Given the description of an element on the screen output the (x, y) to click on. 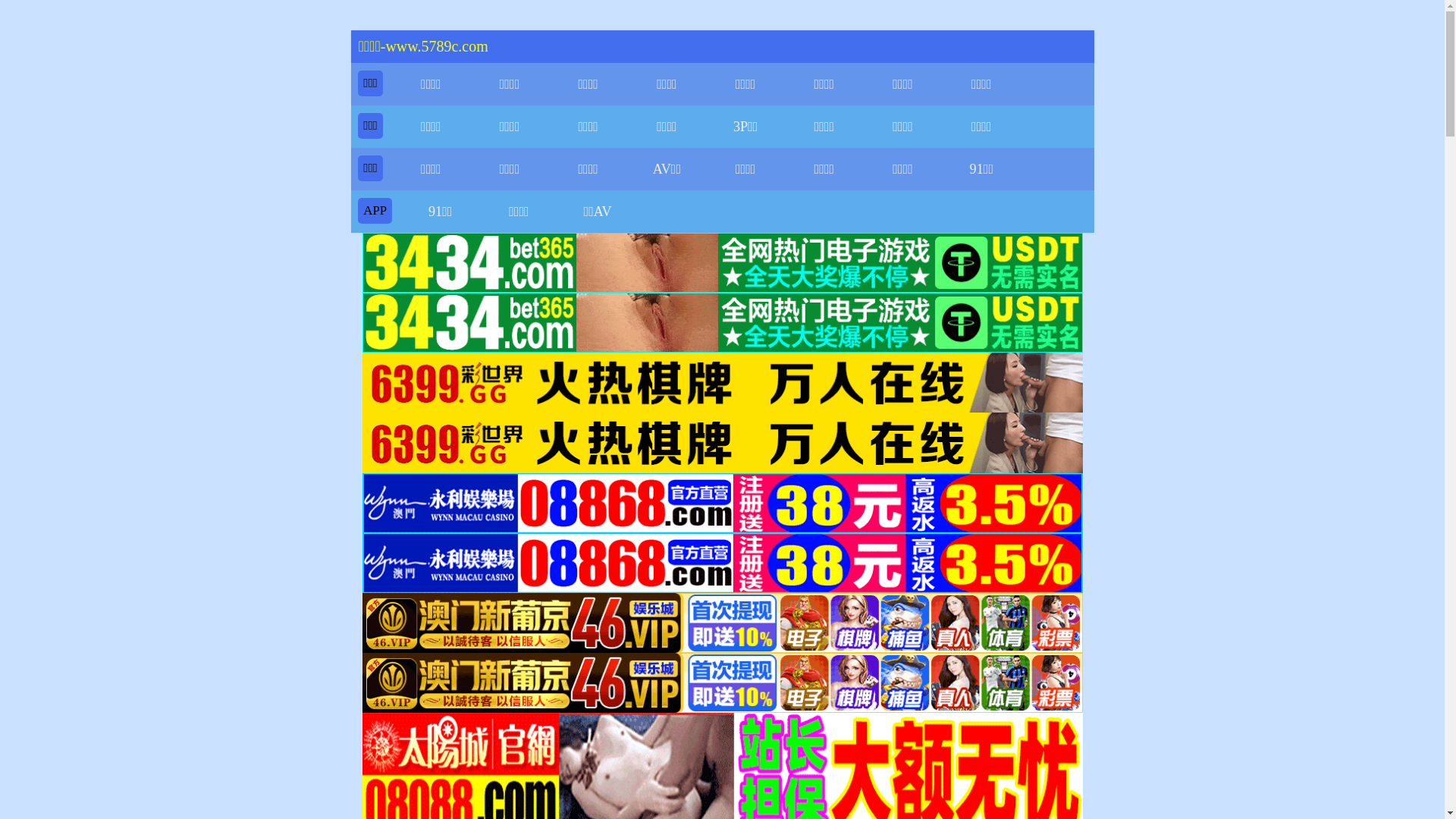
APP Element type: text (374, 210)
